Given the description of an element on the screen output the (x, y) to click on. 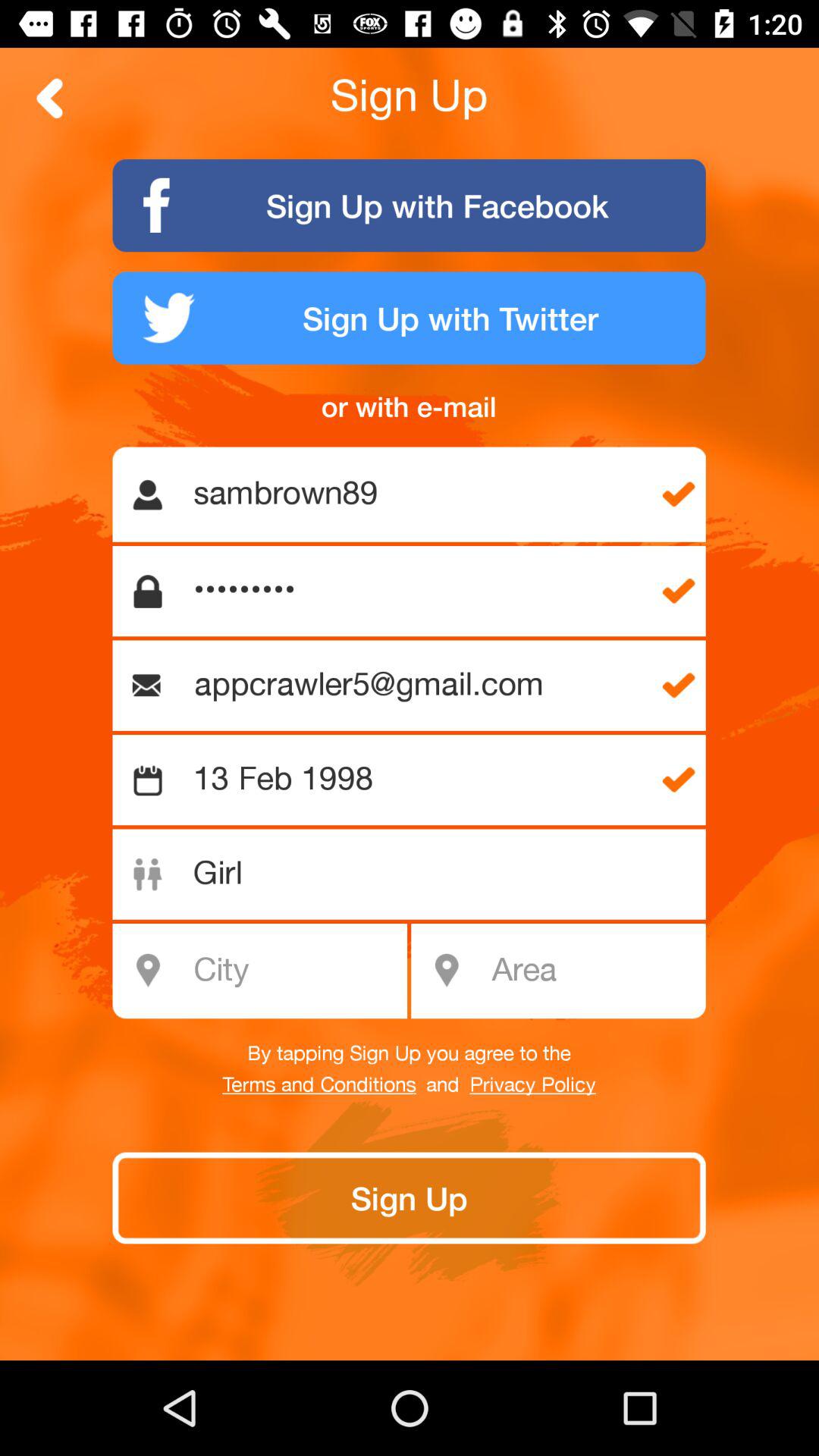
enter your area (593, 970)
